Given the description of an element on the screen output the (x, y) to click on. 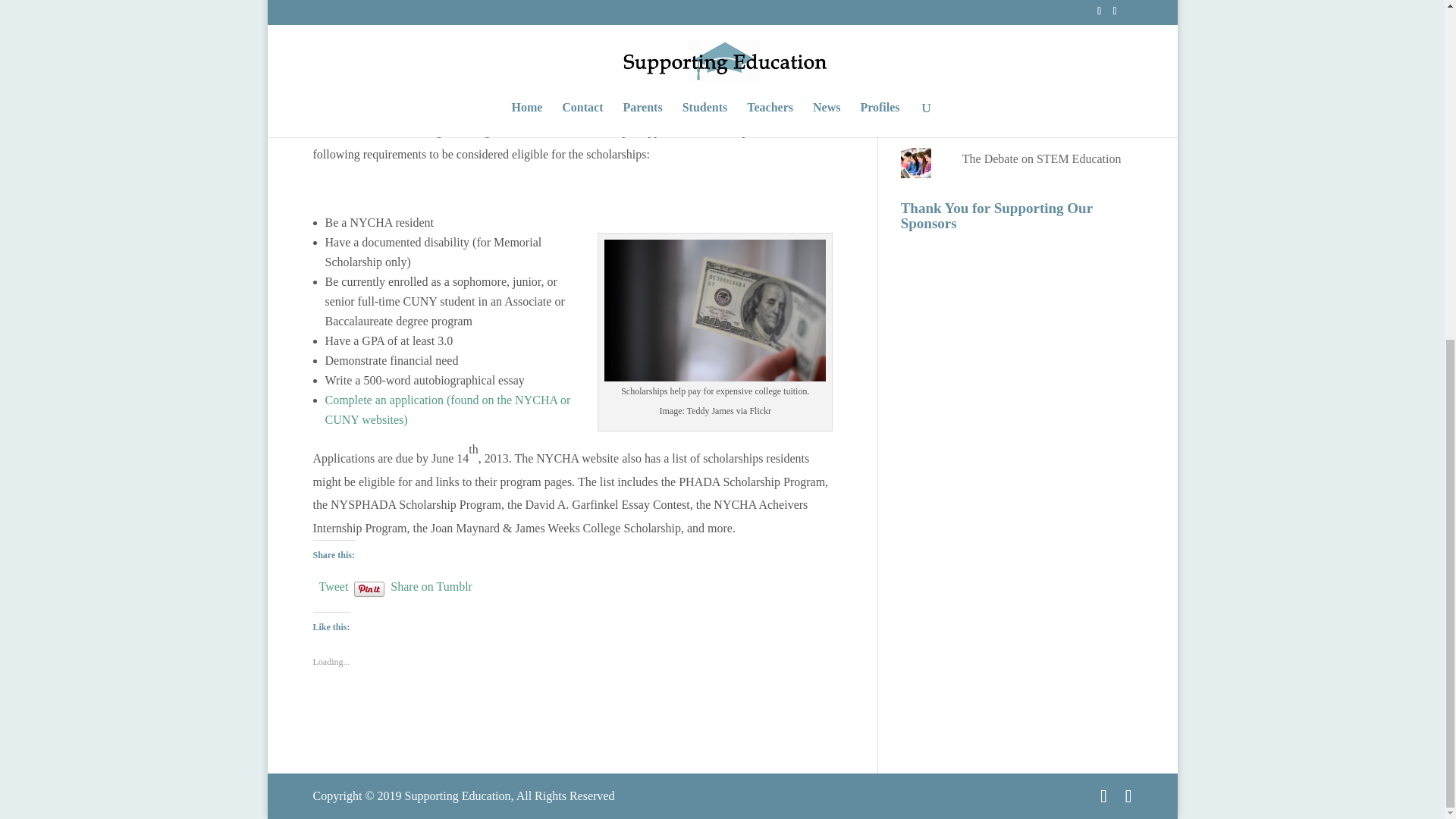
Corporal Punishment Still Up for Debate (1043, 15)
Fun Science Experiments to Do With Your Kids (1039, 117)
The Debate on STEM Education (1041, 158)
Tweet (332, 583)
Share on Tumblr (430, 583)
Fun Science Experiments to Do With Your Kids (1039, 117)
Corporal Punishment Still Up for Debate (1043, 15)
Share on Tumblr (430, 583)
Using Plants Vs. Zombies 2 in the Classroom (1045, 65)
The Debate on STEM Education (1041, 158)
